Given the description of an element on the screen output the (x, y) to click on. 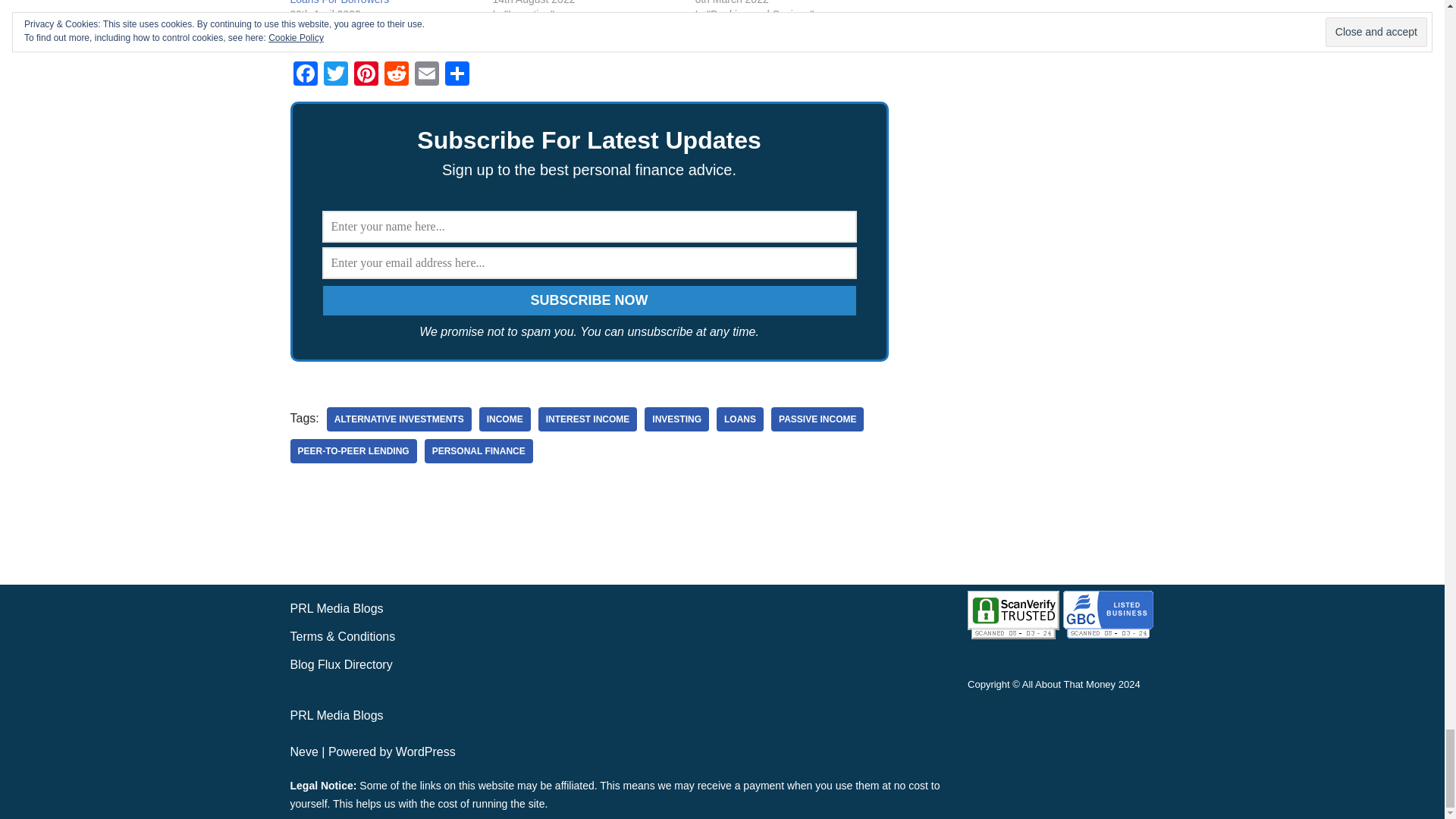
Subscribe Now (589, 300)
